Given the description of an element on the screen output the (x, y) to click on. 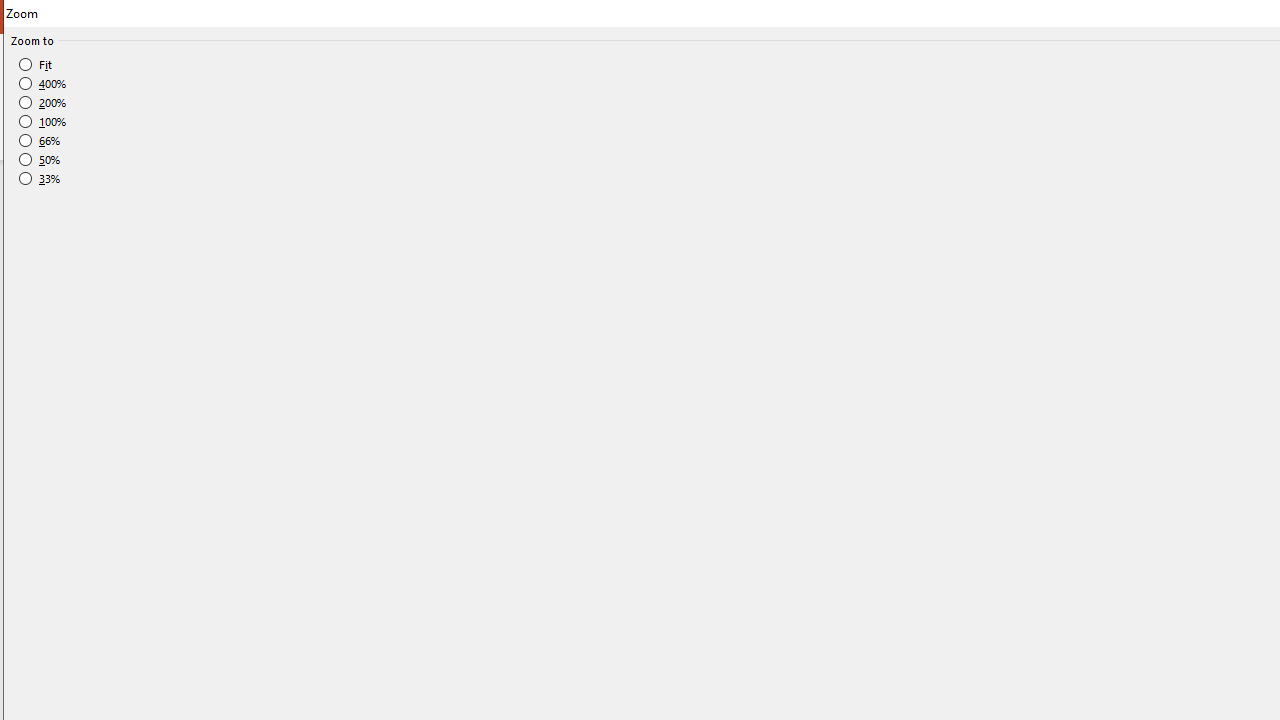
66% (40, 141)
Fit (36, 64)
200% (43, 102)
33% (40, 179)
400% (43, 84)
100% (43, 121)
50% (40, 159)
